Given the description of an element on the screen output the (x, y) to click on. 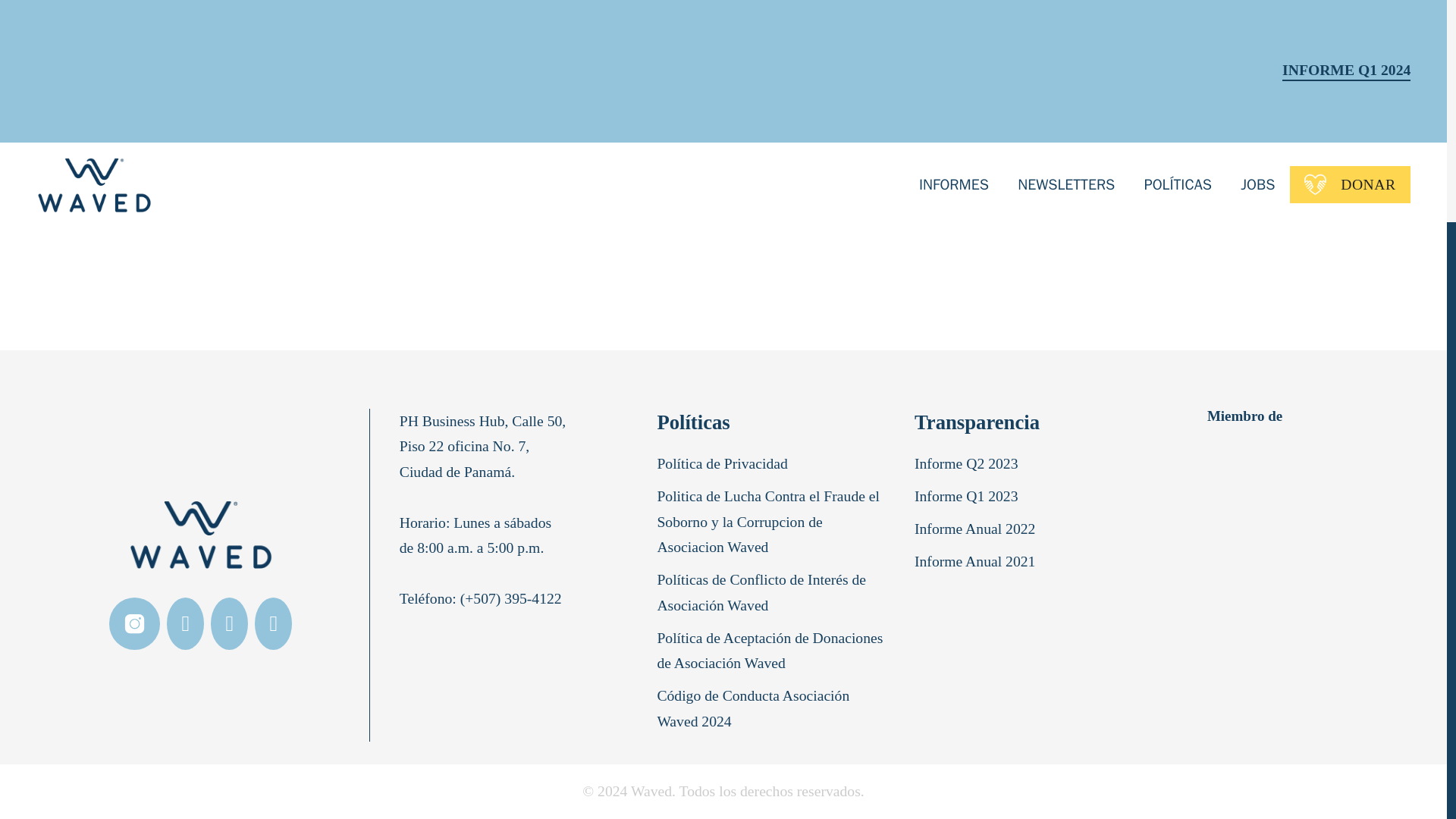
Informe Q1 2023 (969, 500)
Informe Anual 2022 (978, 532)
Informe Anual 2021 (978, 564)
Informe Q2 2023 (969, 467)
